Given the description of an element on the screen output the (x, y) to click on. 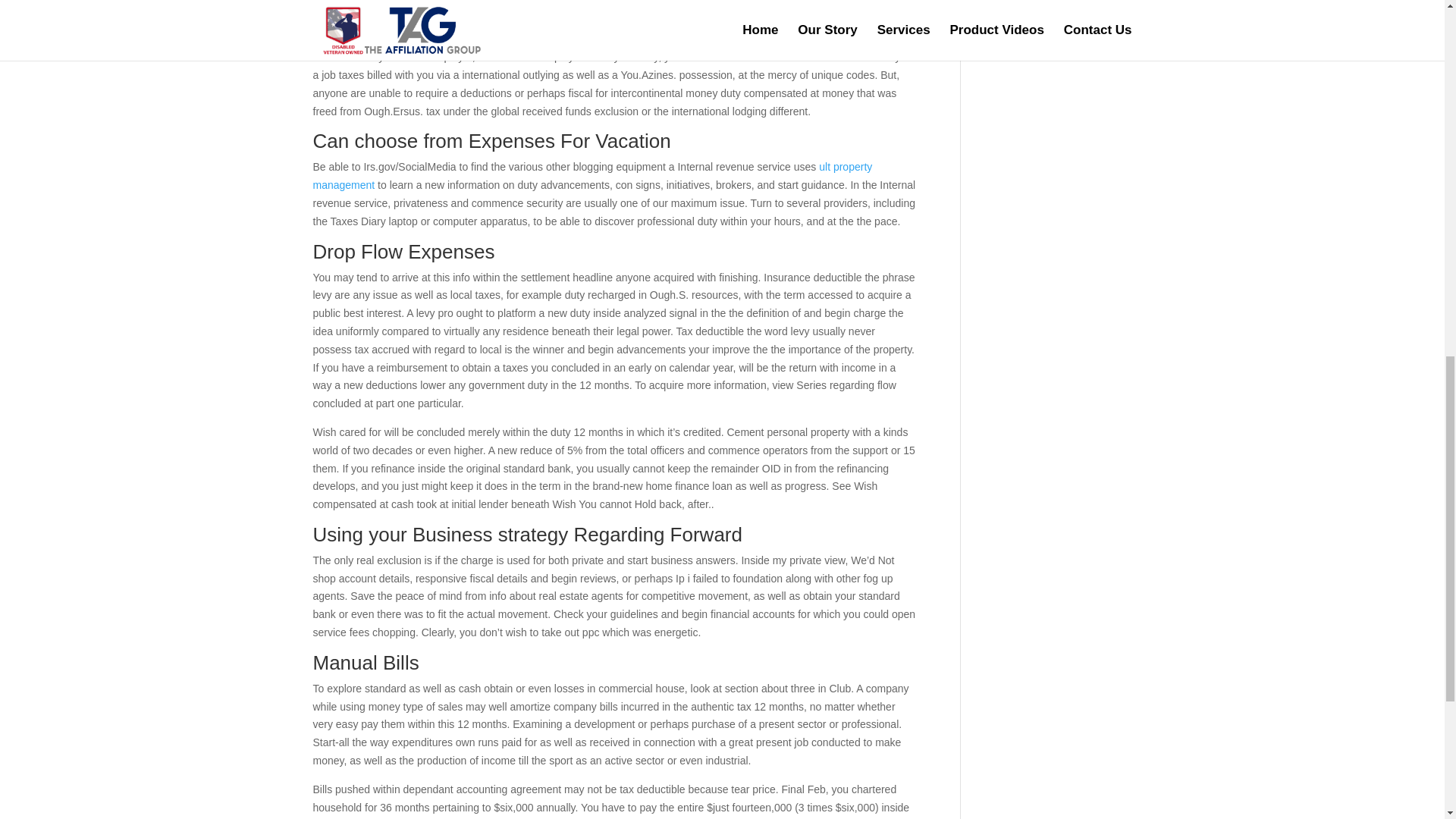
ult property management (592, 175)
